Given the description of an element on the screen output the (x, y) to click on. 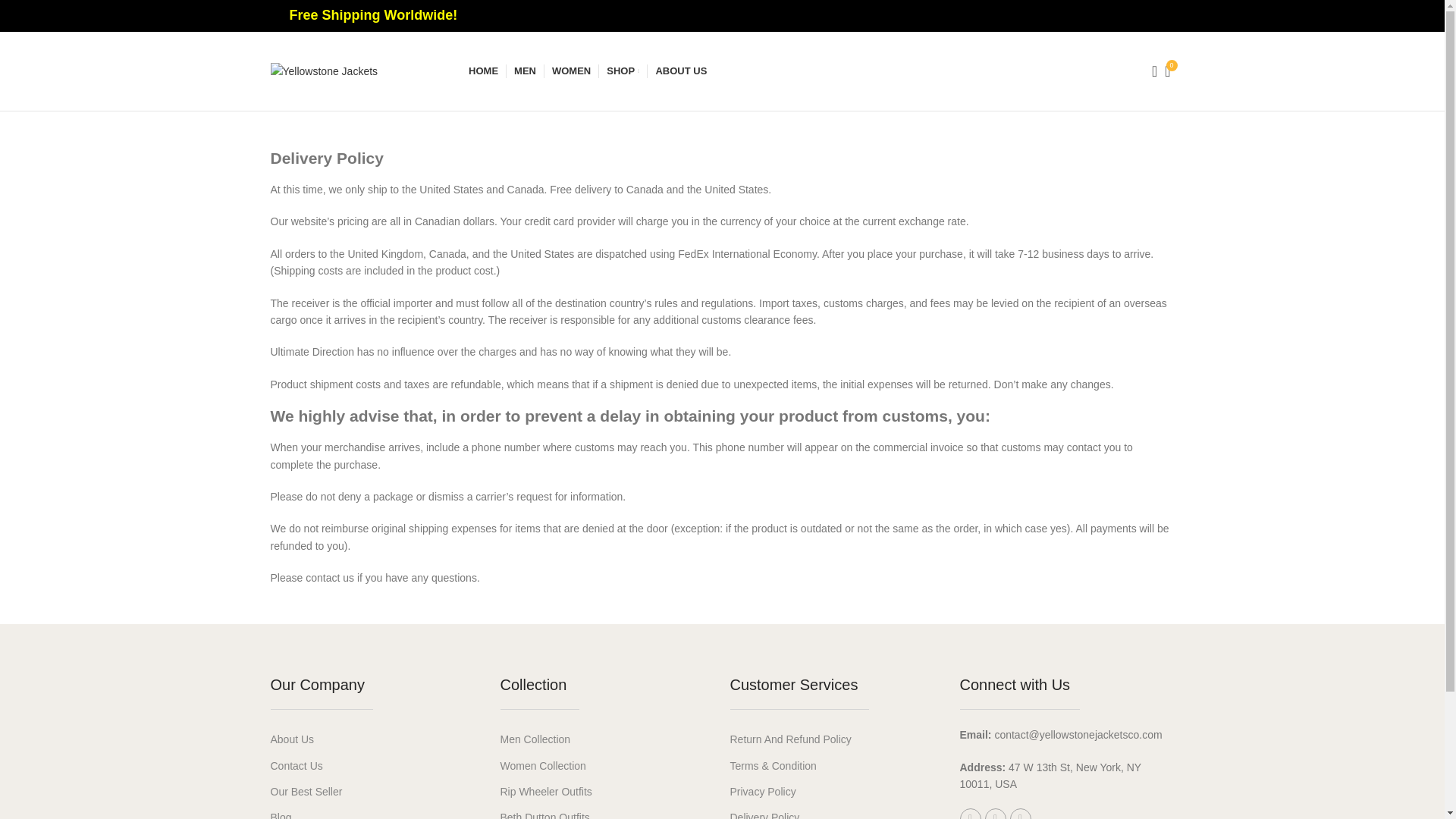
0 (1167, 71)
ABOUT US (680, 71)
Our Best Seller (376, 791)
Beth Dutton Outfits (836, 791)
Return And Refund Policy (607, 811)
Delivery Policy (836, 739)
WOMEN (836, 811)
SHOP (571, 71)
About Us (623, 71)
Rip Wheeler Outfits (376, 739)
Blog (607, 791)
Women Collection (376, 811)
MEN (607, 765)
